Given the description of an element on the screen output the (x, y) to click on. 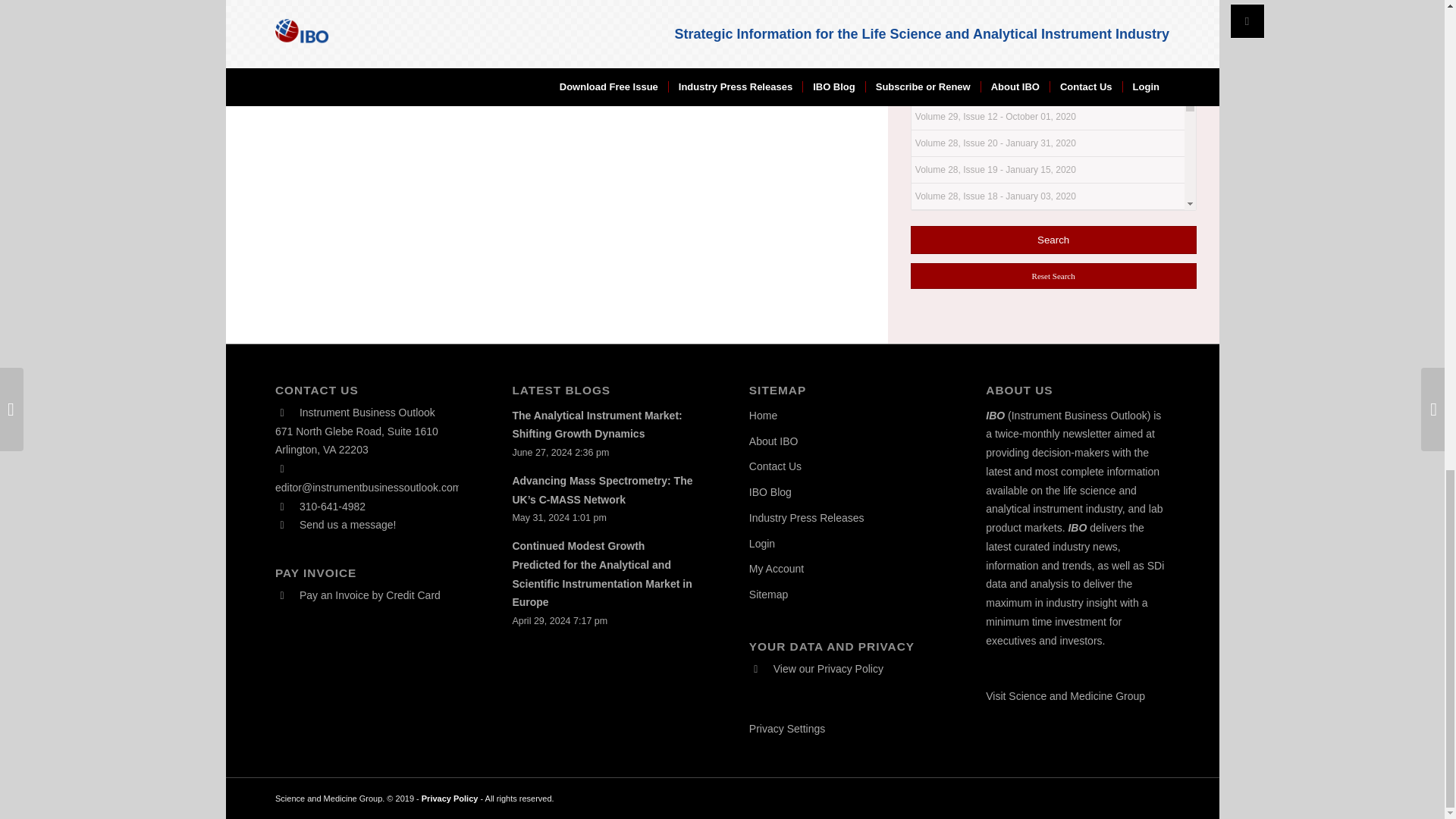
Region (933, 0)
The Analytical Instrument Market: Shifting Growth Dynamics (596, 424)
Feature Type (949, 21)
